Given the description of an element on the screen output the (x, y) to click on. 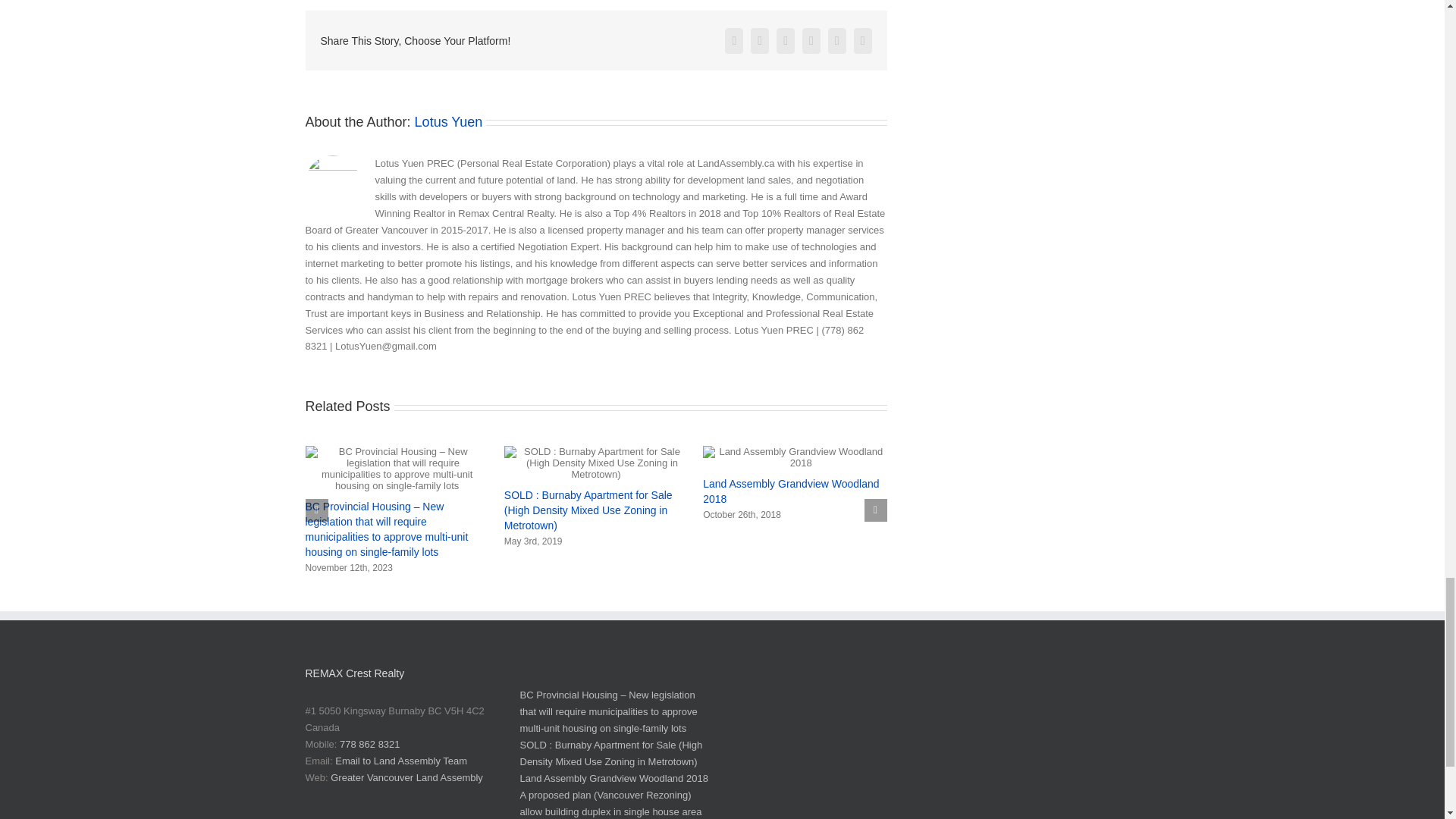
Land Assembly Grandview Woodland 2018 (791, 491)
Land Assembly Grandview Woodland 2018 (791, 491)
Posts by Lotus Yuen (448, 121)
Lotus Yuen (448, 121)
